Given the description of an element on the screen output the (x, y) to click on. 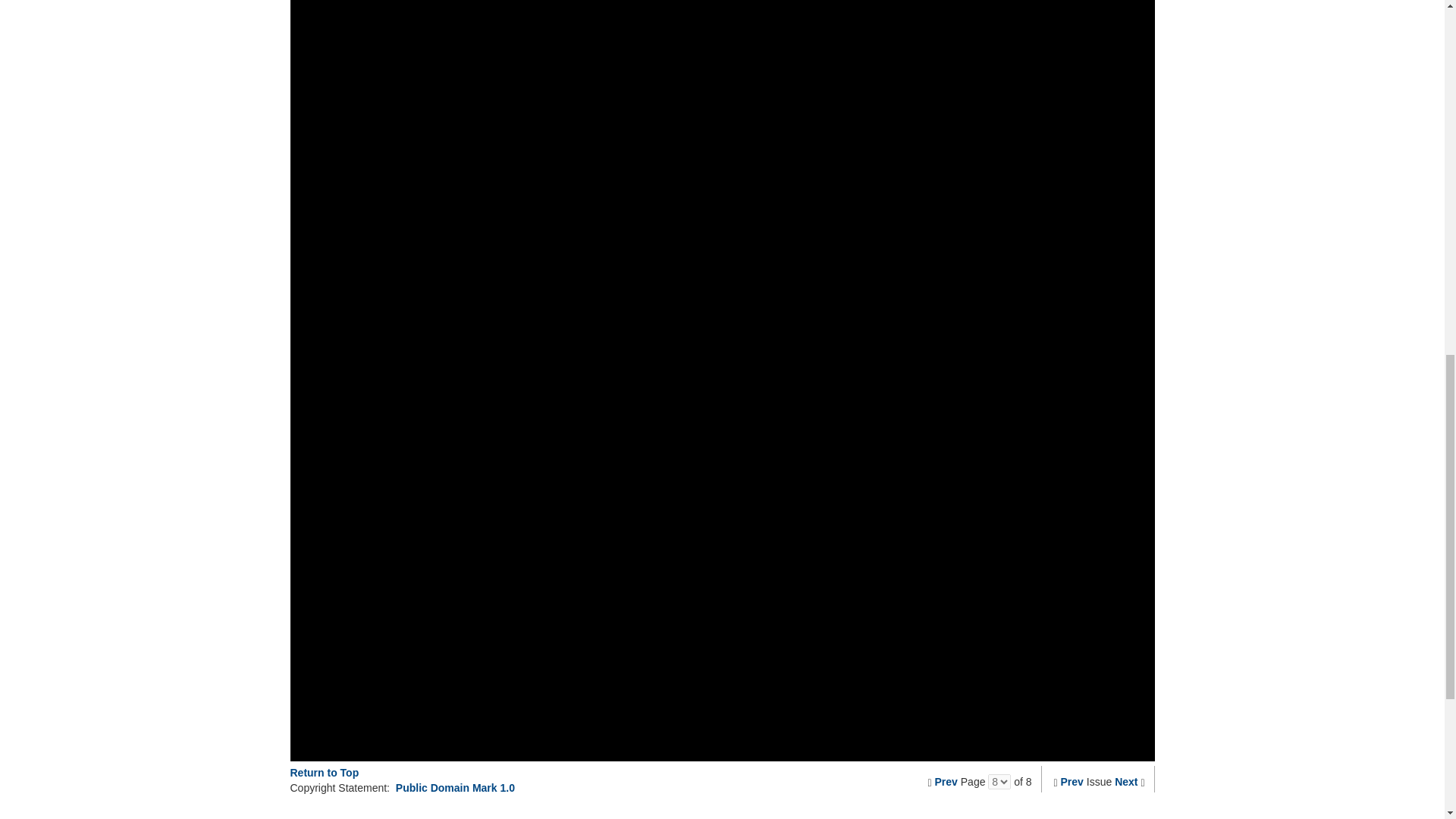
Next (1126, 781)
Prev (946, 781)
Prev (1072, 781)
Return to Top (323, 772)
Public Domain Mark 1.0 (455, 787)
